Given the description of an element on the screen output the (x, y) to click on. 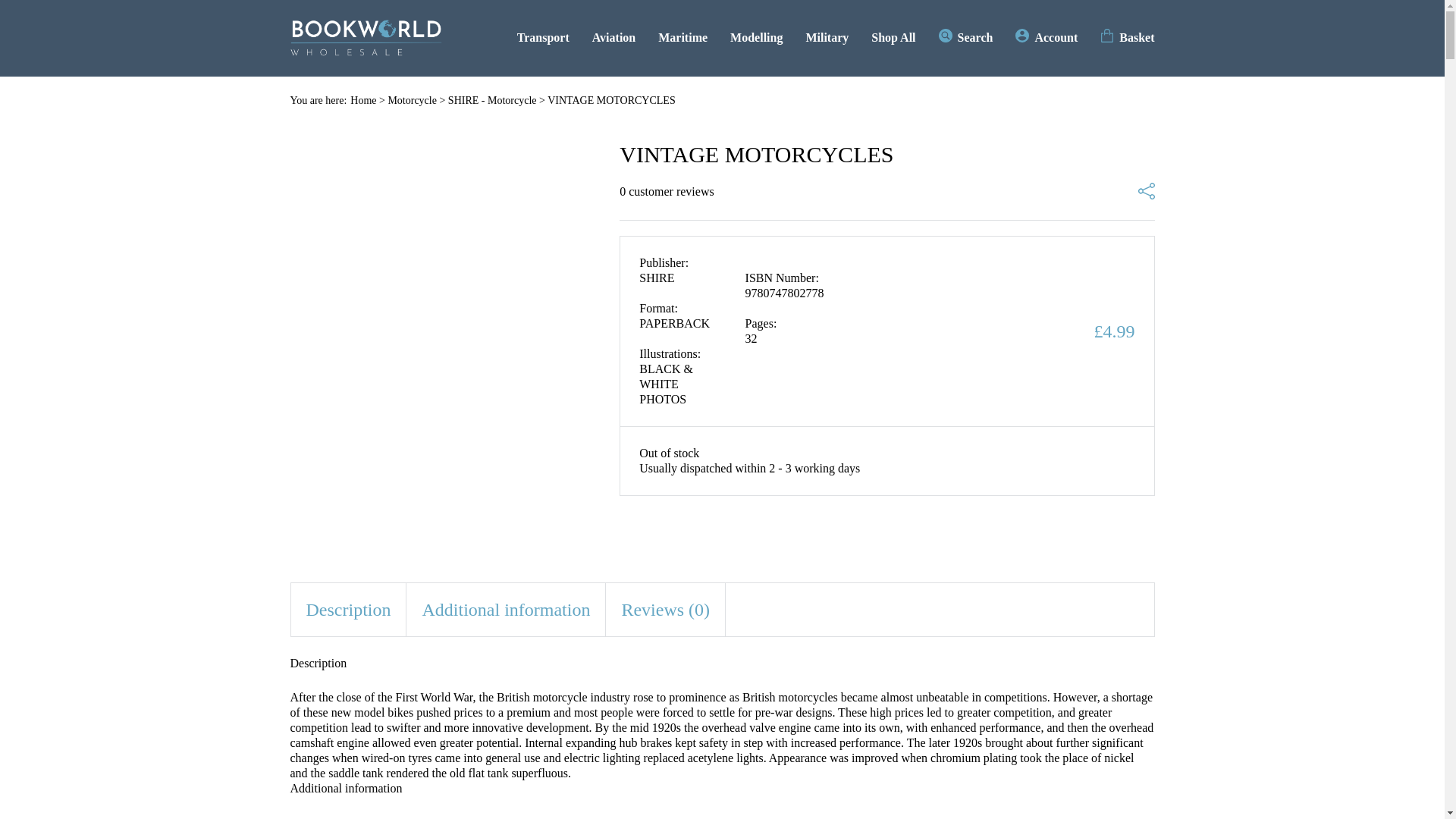
Transport (542, 37)
Description (349, 609)
Account (1045, 37)
Military (826, 37)
Shop All (892, 37)
Basket (1127, 37)
Maritime (682, 37)
Home (362, 100)
Search (965, 37)
Modelling (756, 37)
0 customer reviews (666, 191)
Additional information (505, 609)
Motorcycle (411, 100)
Aviation (613, 37)
SHIRE - Motorcycle (492, 100)
